Given the description of an element on the screen output the (x, y) to click on. 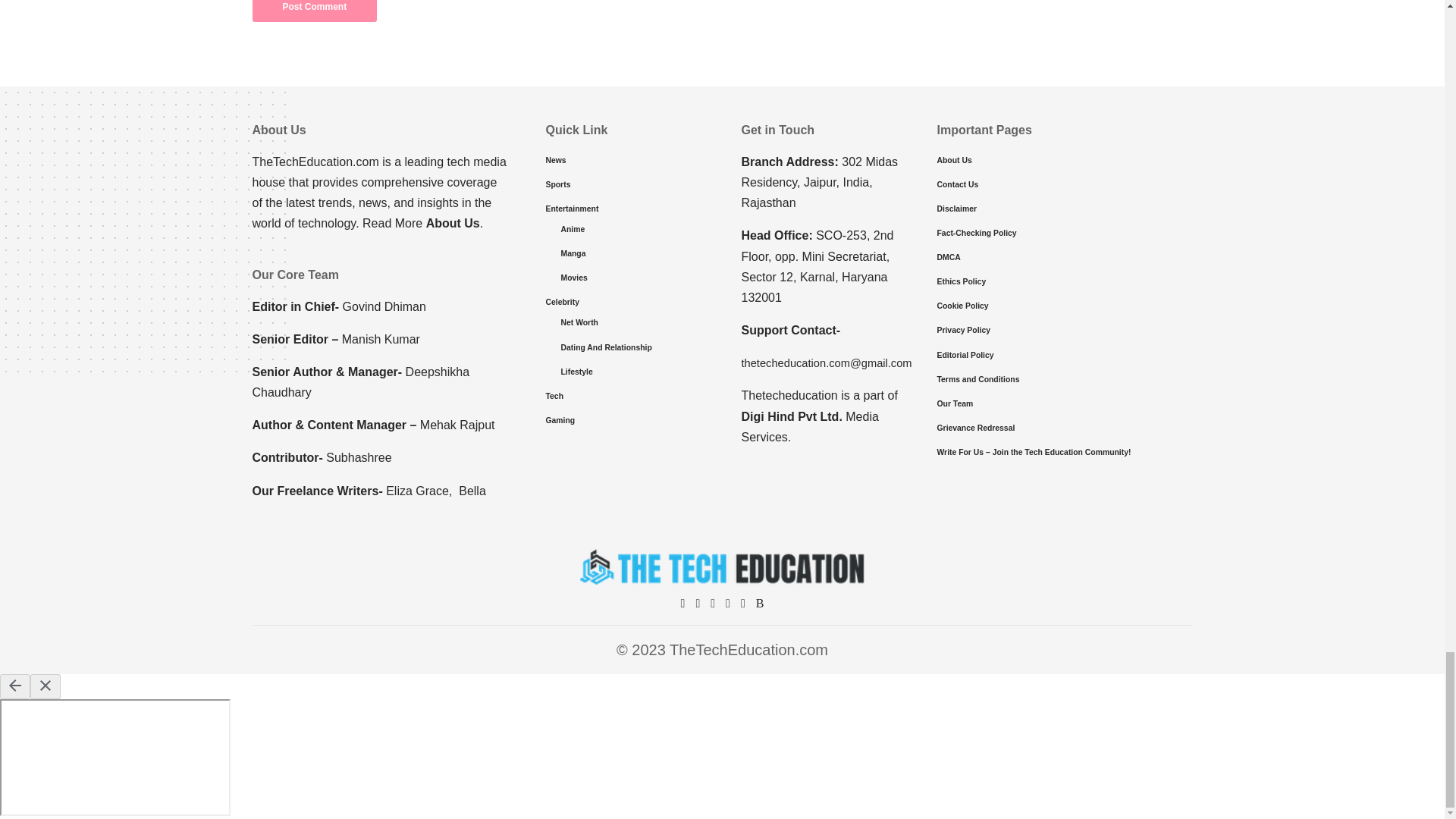
Post Comment (314, 11)
